Given the description of an element on the screen output the (x, y) to click on. 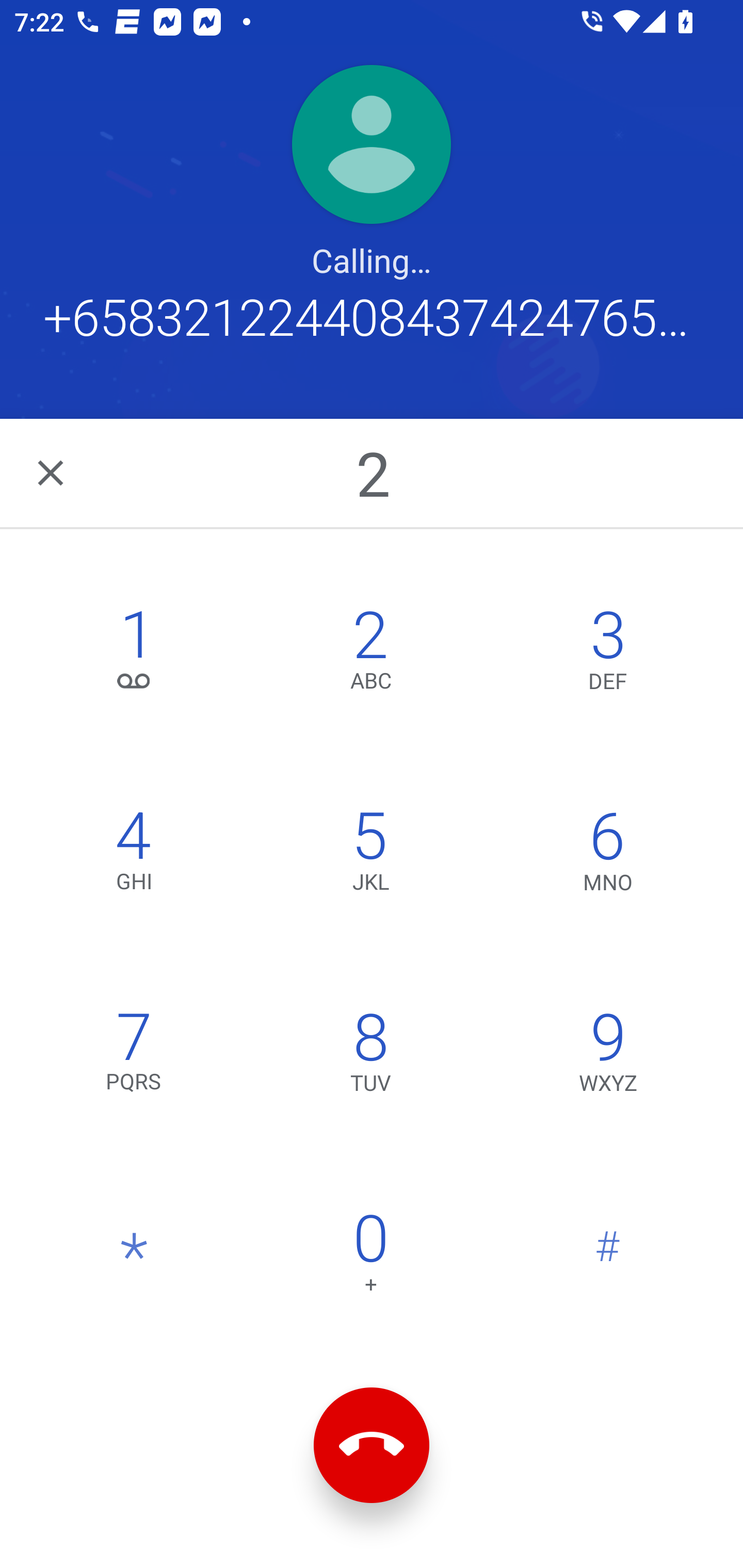
2 (372, 472)
Navigate back (52, 472)
1, 1 (133, 655)
2,ABC 2 ABC (370, 655)
3,DEF 3 DEF (607, 655)
4,GHI 4 GHI (133, 855)
5,JKL 5 JKL (370, 855)
6,MNO 6 MNO (607, 855)
7,PQRS 7 PQRS (133, 1056)
8,TUV 8 TUV (370, 1056)
9,WXYZ 9 WXYZ (607, 1056)
* (133, 1257)
0 0 + (370, 1257)
# (607, 1257)
End call (371, 1445)
